Given the description of an element on the screen output the (x, y) to click on. 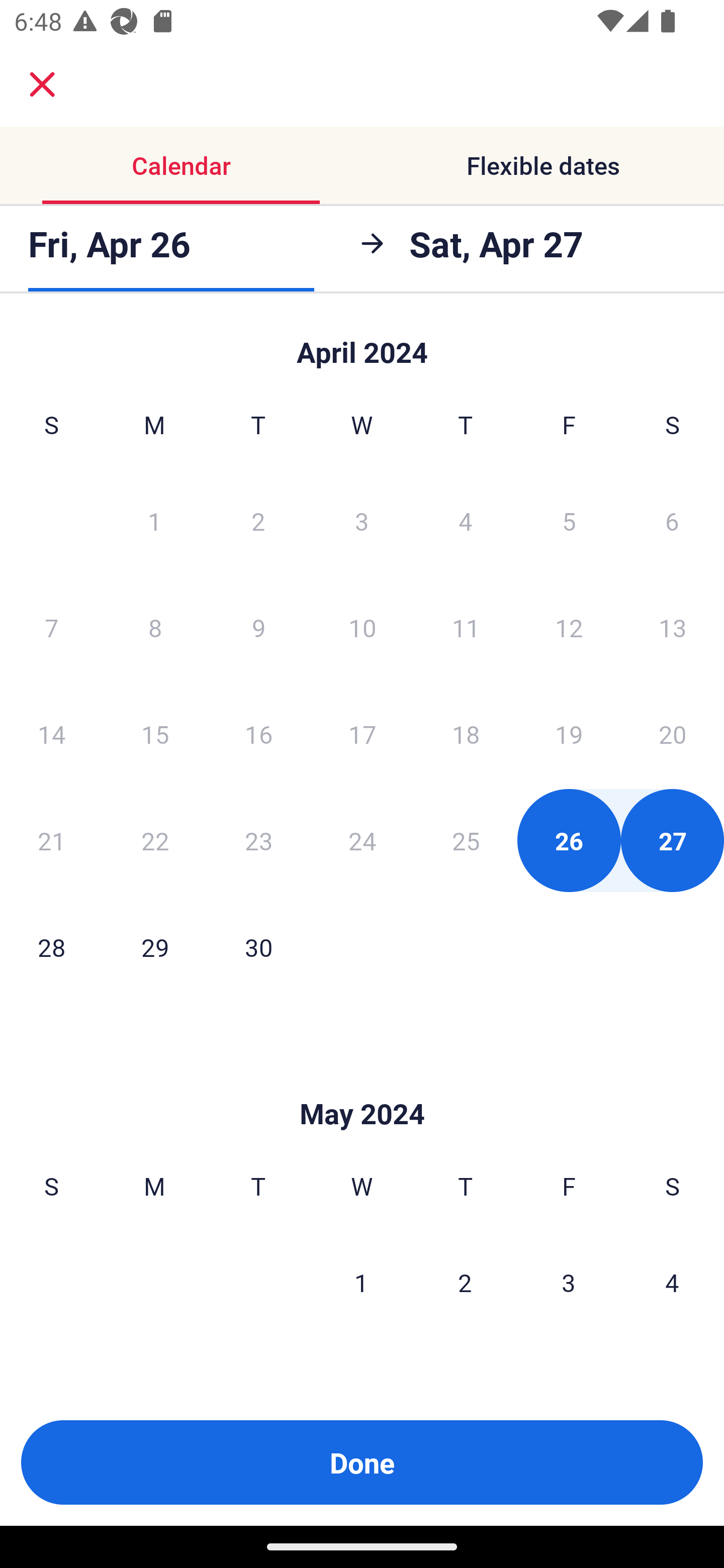
close. (42, 84)
Flexible dates (542, 164)
Skip to Done (362, 343)
1 Monday, April 1, 2024 (154, 520)
2 Tuesday, April 2, 2024 (257, 520)
3 Wednesday, April 3, 2024 (361, 520)
4 Thursday, April 4, 2024 (465, 520)
5 Friday, April 5, 2024 (568, 520)
6 Saturday, April 6, 2024 (672, 520)
7 Sunday, April 7, 2024 (51, 626)
8 Monday, April 8, 2024 (155, 626)
9 Tuesday, April 9, 2024 (258, 626)
10 Wednesday, April 10, 2024 (362, 626)
11 Thursday, April 11, 2024 (465, 626)
12 Friday, April 12, 2024 (569, 626)
13 Saturday, April 13, 2024 (672, 626)
14 Sunday, April 14, 2024 (51, 733)
15 Monday, April 15, 2024 (155, 733)
16 Tuesday, April 16, 2024 (258, 733)
17 Wednesday, April 17, 2024 (362, 733)
18 Thursday, April 18, 2024 (465, 733)
19 Friday, April 19, 2024 (569, 733)
20 Saturday, April 20, 2024 (672, 733)
21 Sunday, April 21, 2024 (51, 840)
22 Monday, April 22, 2024 (155, 840)
23 Tuesday, April 23, 2024 (258, 840)
24 Wednesday, April 24, 2024 (362, 840)
25 Thursday, April 25, 2024 (465, 840)
28 Sunday, April 28, 2024 (51, 946)
29 Monday, April 29, 2024 (155, 946)
30 Tuesday, April 30, 2024 (258, 946)
Skip to Done (362, 1083)
1 Wednesday, May 1, 2024 (361, 1282)
2 Thursday, May 2, 2024 (464, 1282)
3 Friday, May 3, 2024 (568, 1282)
4 Saturday, May 4, 2024 (672, 1282)
Done (361, 1462)
